Given the description of an element on the screen output the (x, y) to click on. 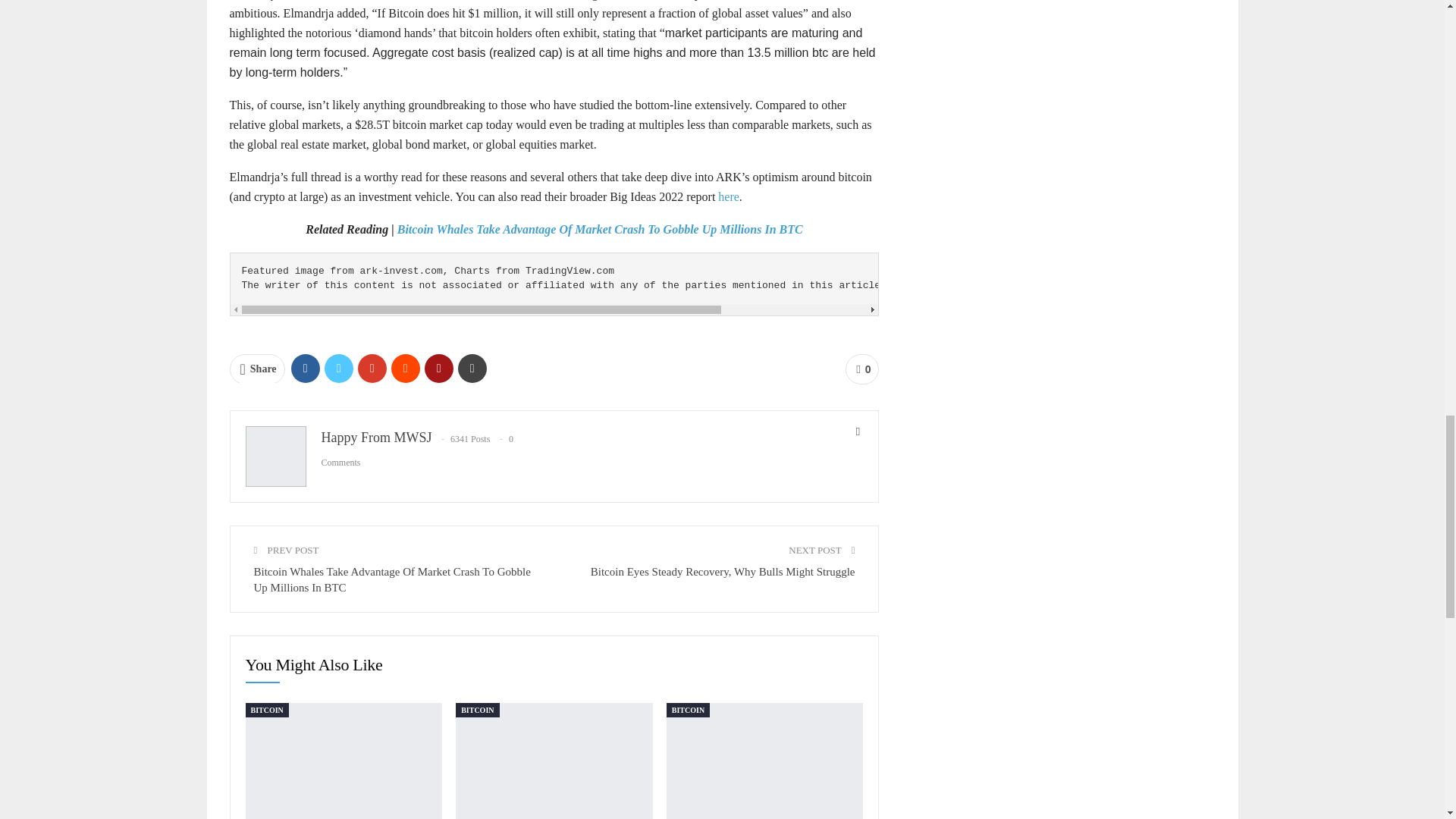
0 (862, 368)
Happy From MWSJ (376, 437)
here (728, 196)
Losses Trump Profits As Ratio Dips Below 1 (764, 760)
